Given the description of an element on the screen output the (x, y) to click on. 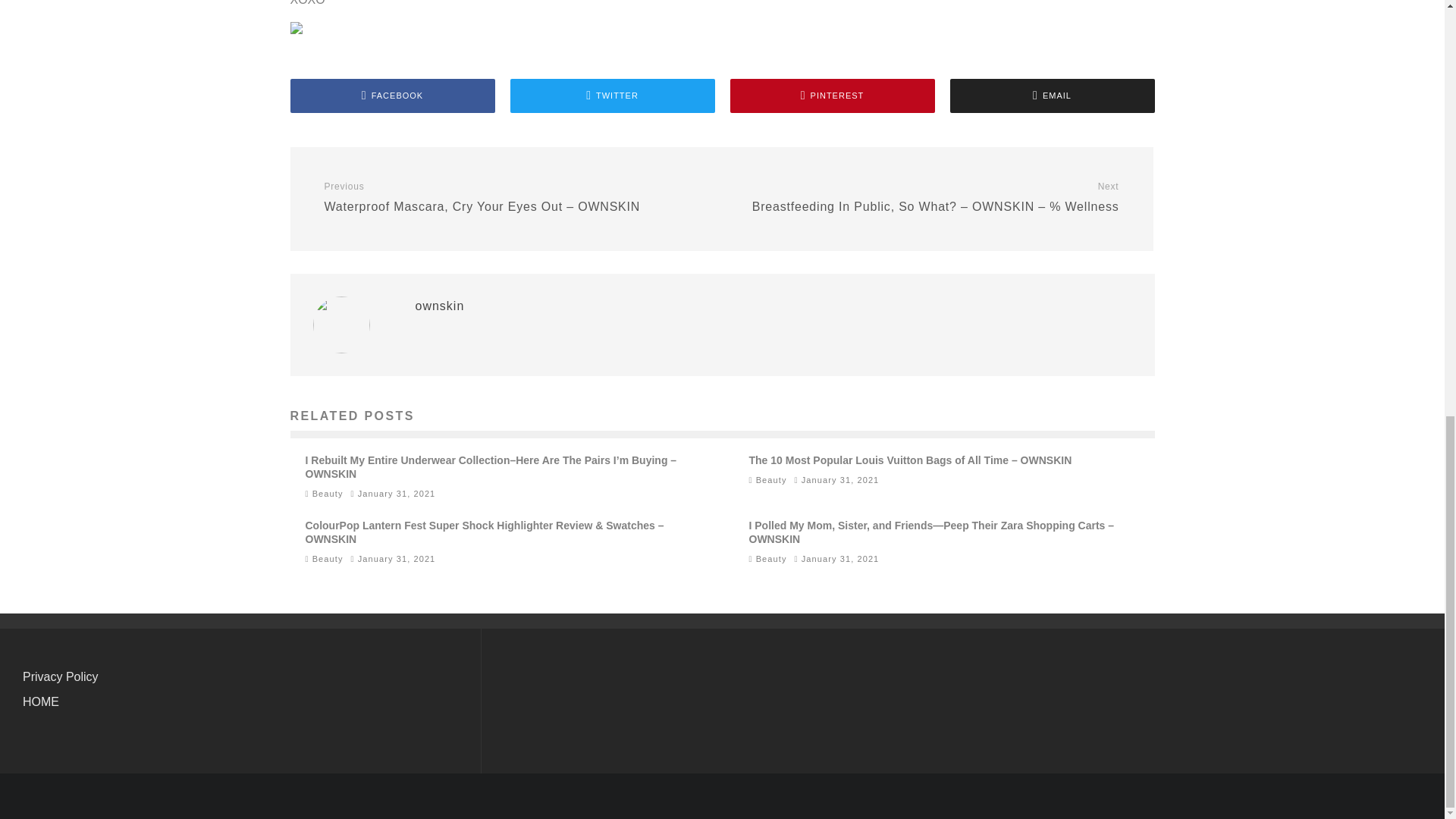
HOME (41, 701)
Beauty (771, 558)
ownskin (439, 305)
FACEBOOK (392, 95)
Beauty (771, 480)
Privacy Policy (61, 676)
EMAIL (1051, 95)
Beauty (328, 558)
TWITTER (611, 95)
Beauty (328, 493)
PINTEREST (831, 95)
